Given the description of an element on the screen output the (x, y) to click on. 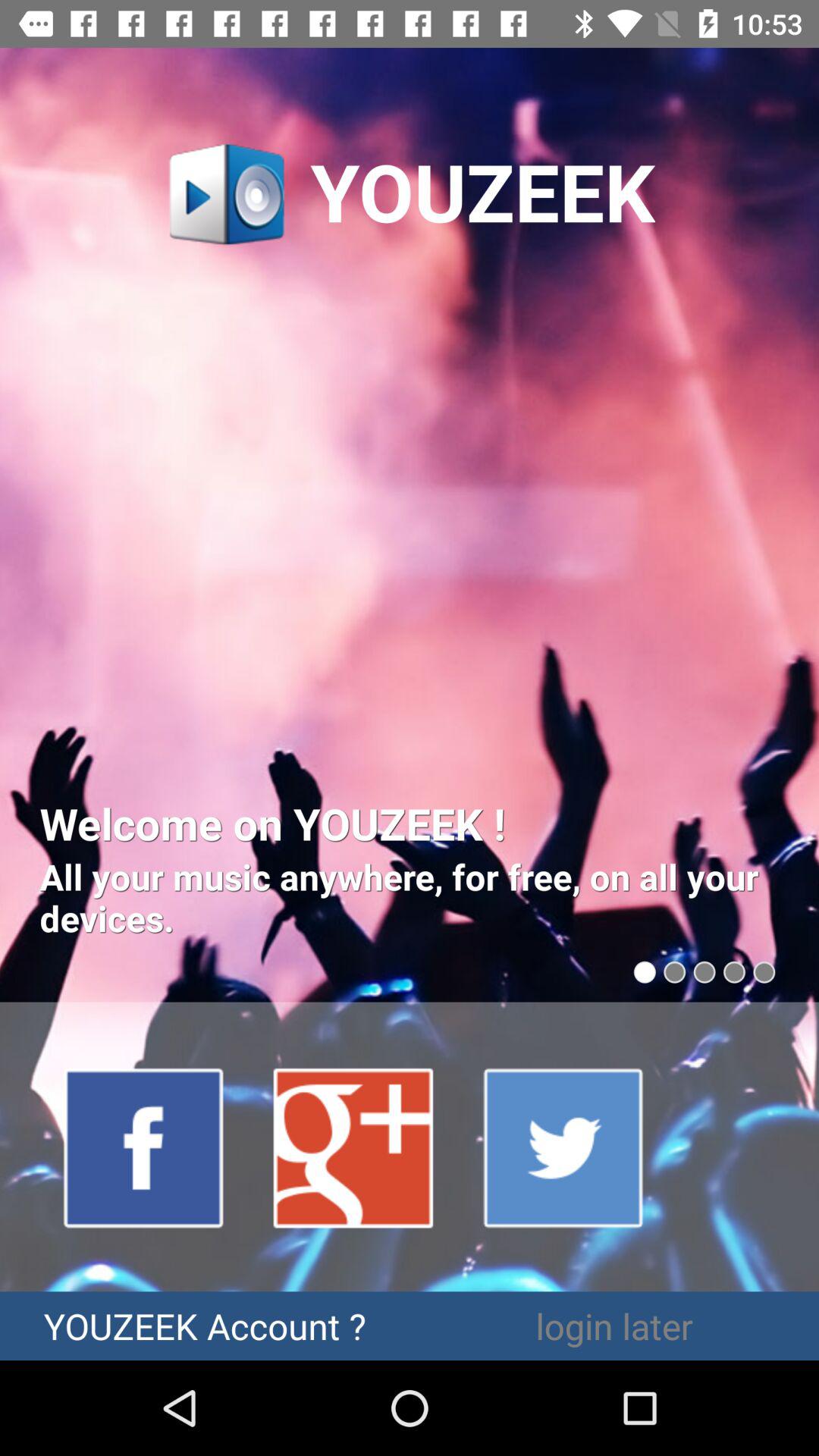
tap the item to the left of login later icon (204, 1325)
